Given the description of an element on the screen output the (x, y) to click on. 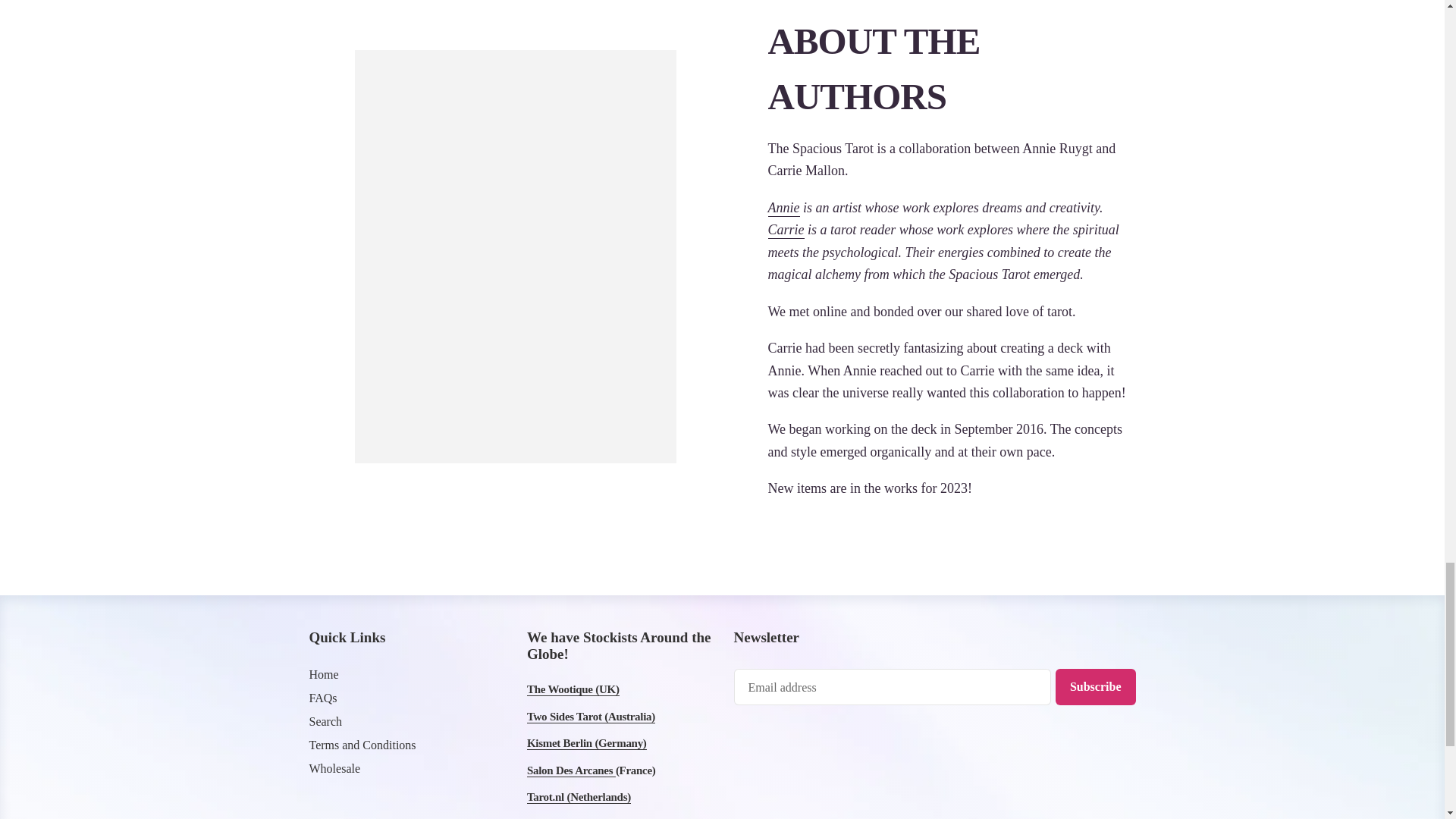
Two Sides Tarot (591, 716)
Carrie (785, 230)
Annie Ruygt (783, 208)
Kismet Berlin (586, 743)
Carrie Mallon (785, 230)
Tarot.nl (578, 797)
Annie (783, 208)
Salon Des Arcanes (571, 770)
The Wootique (573, 689)
